Given the description of an element on the screen output the (x, y) to click on. 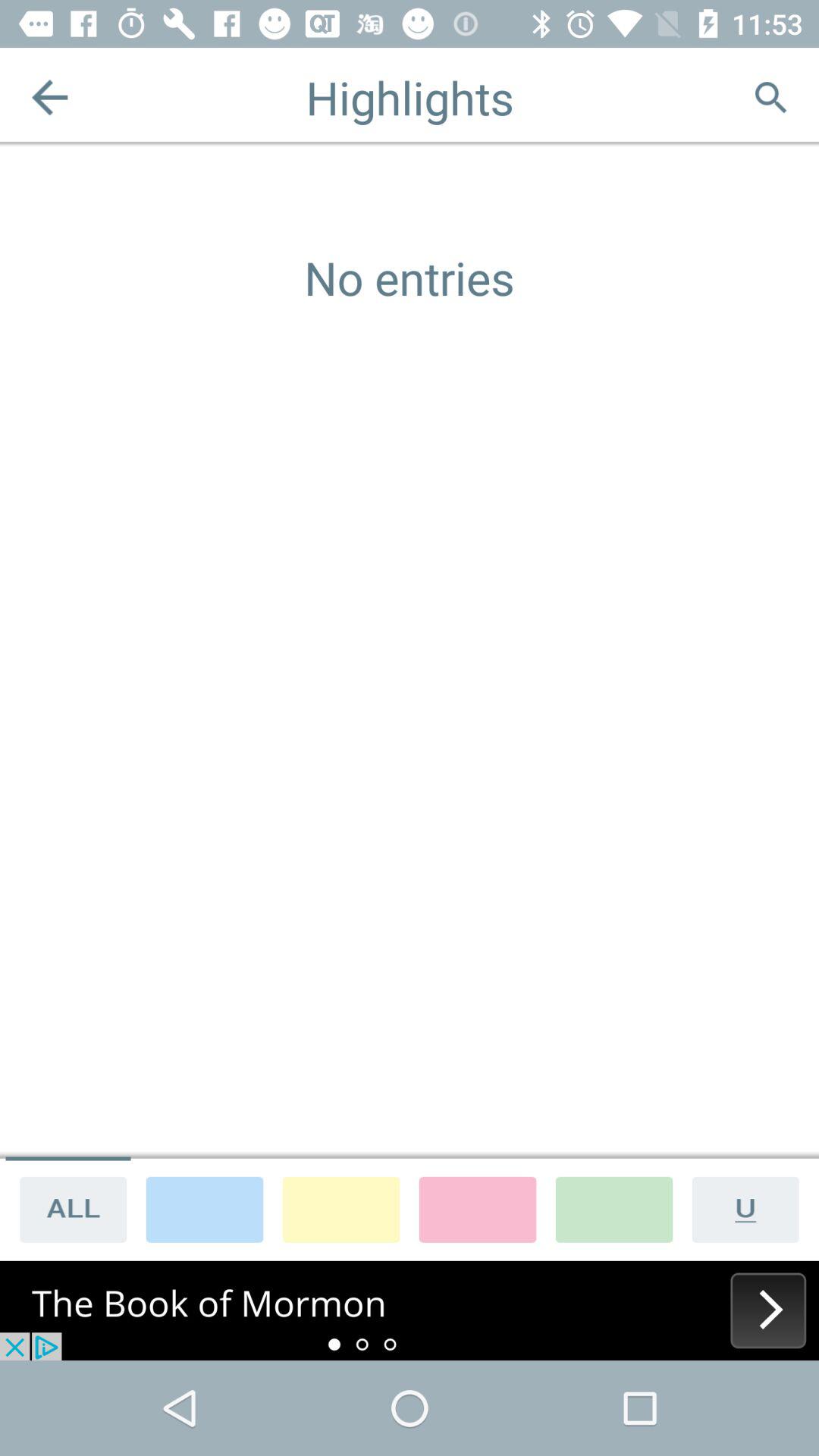
change background color (341, 1208)
